Given the description of an element on the screen output the (x, y) to click on. 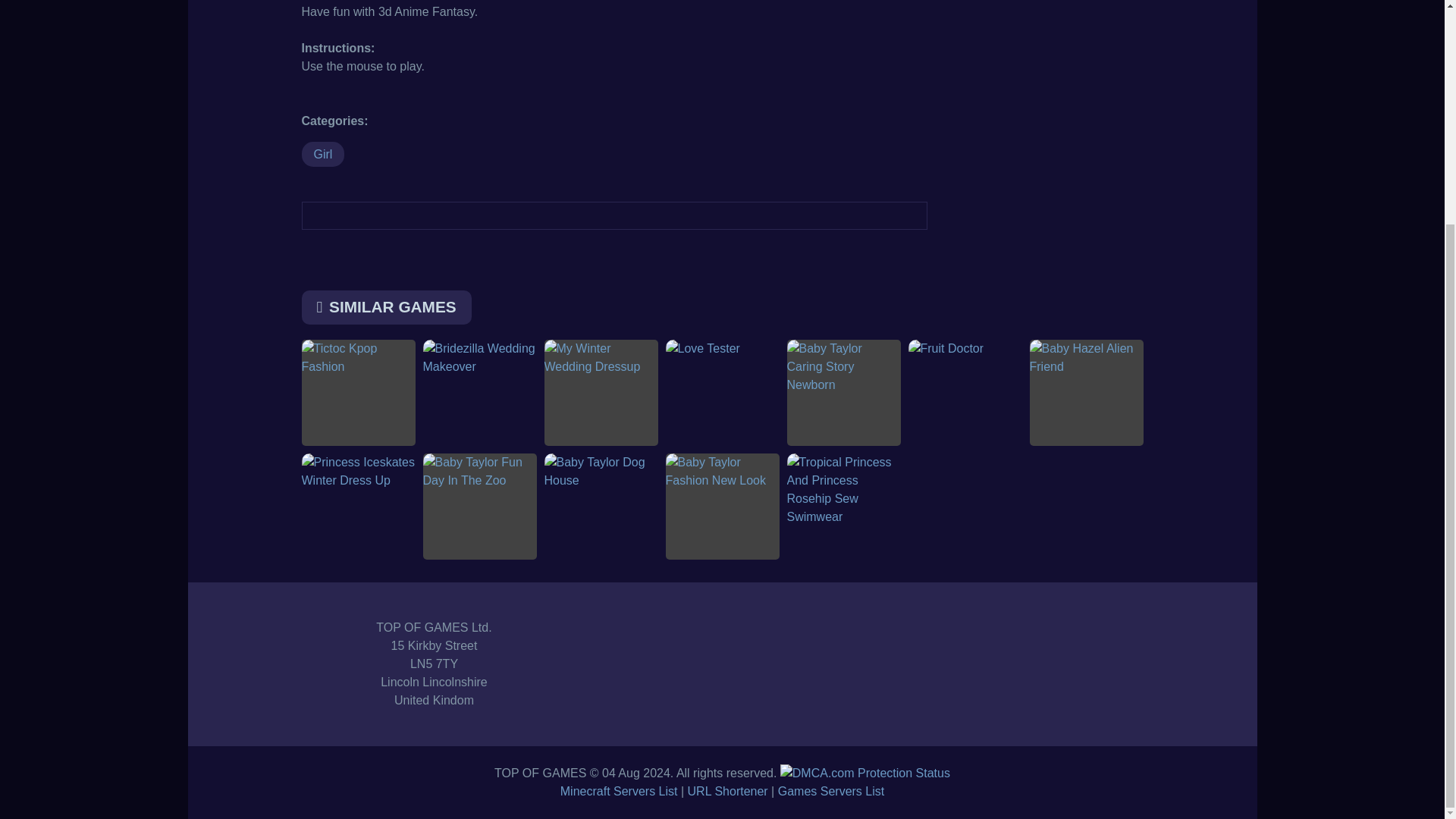
DMCA.com Protection Status (865, 772)
Free URL Shortener (727, 790)
Free Minecraft Servers List (619, 790)
Games Servers List (830, 790)
